Given the description of an element on the screen output the (x, y) to click on. 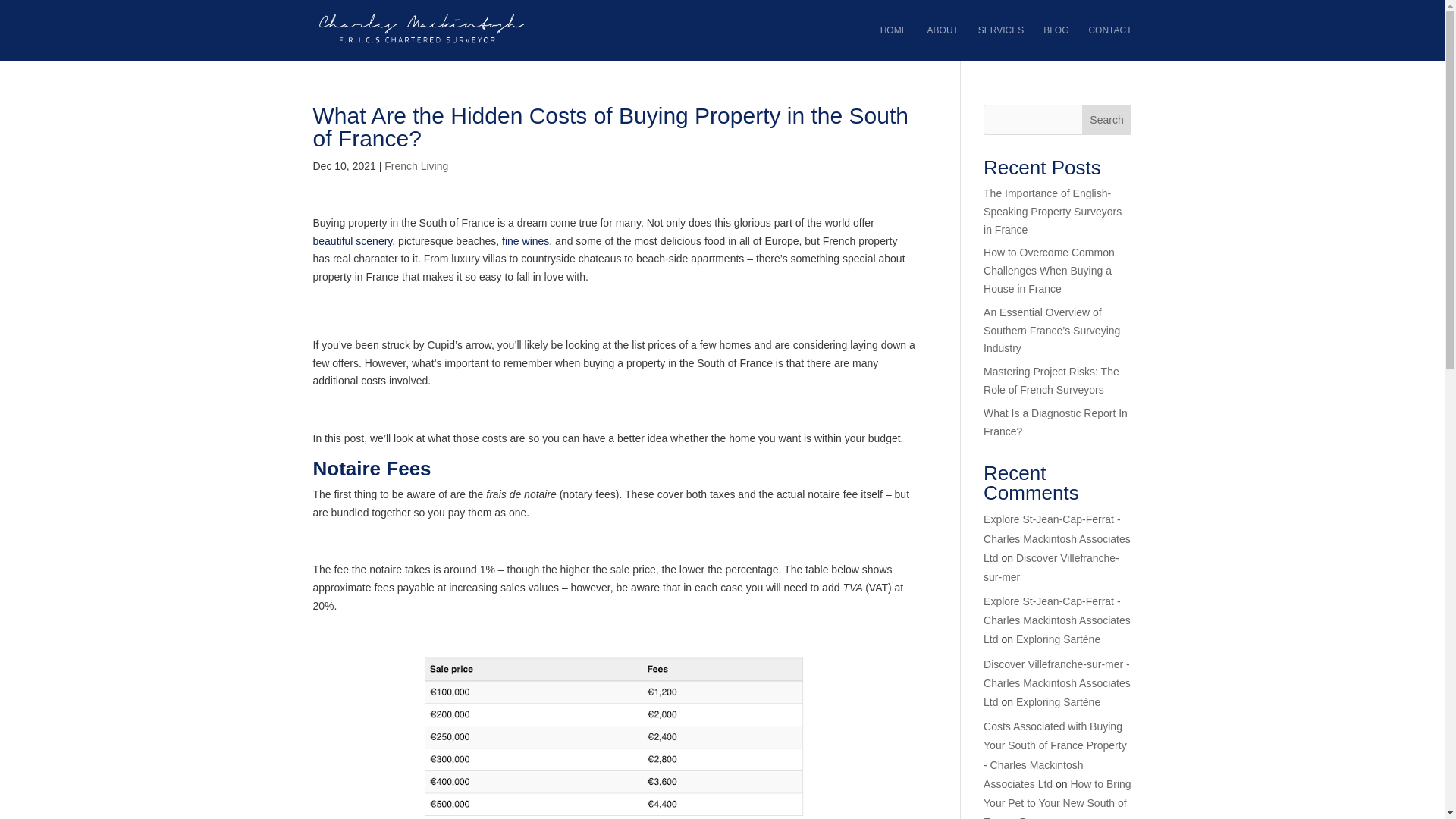
Search (1106, 119)
Discover Villefranche-sur-mer (1051, 567)
How to Bring Your Pet to Your New South of France Property (1057, 798)
CONTACT (1109, 42)
French Living (416, 165)
beautiful scenery (352, 241)
SERVICES (1000, 42)
fine wines (525, 241)
What Is a Diagnostic Report In France? (1055, 422)
